Given the description of an element on the screen output the (x, y) to click on. 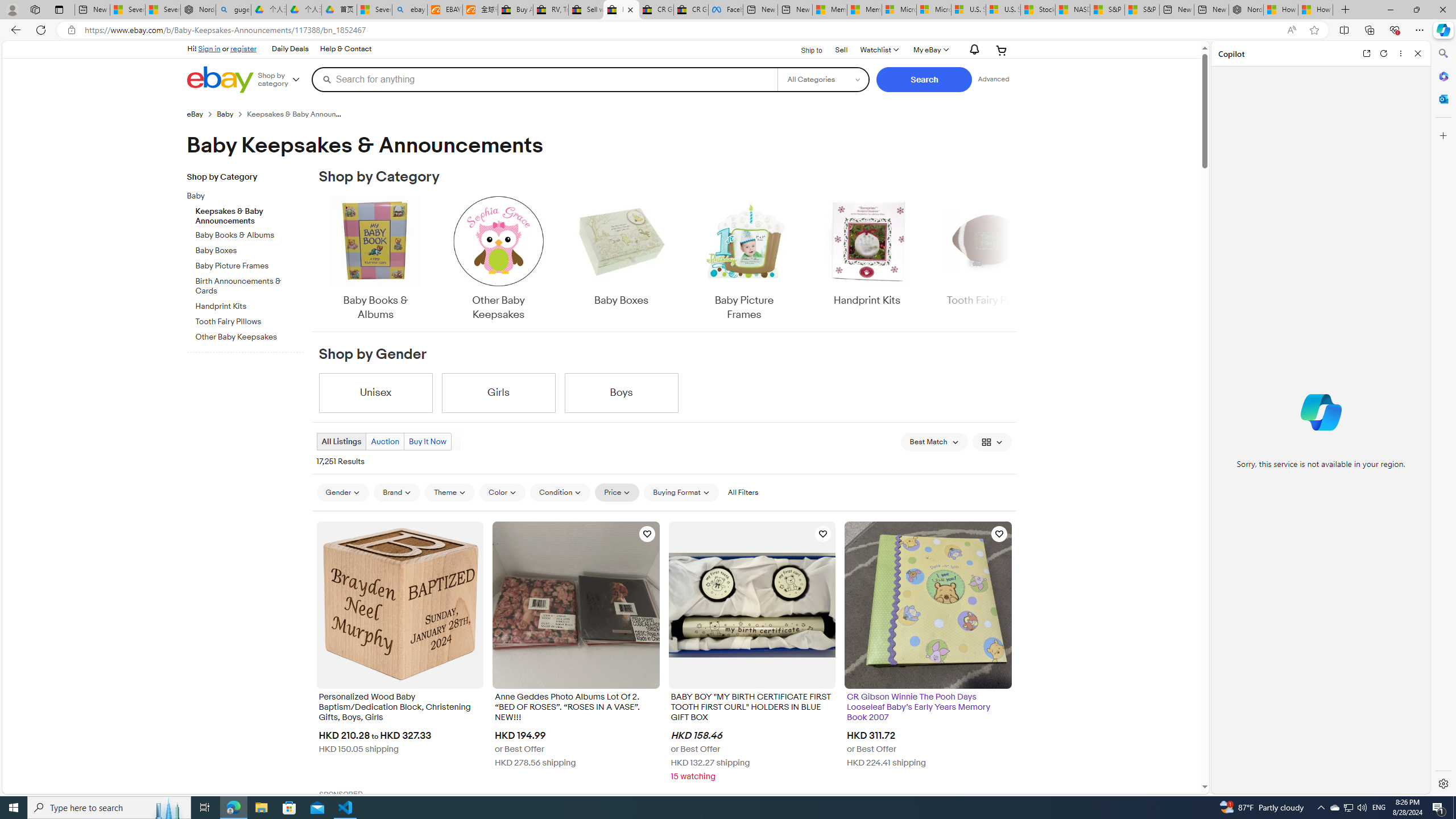
Customize (1442, 135)
eBay (201, 113)
